Given the description of an element on the screen output the (x, y) to click on. 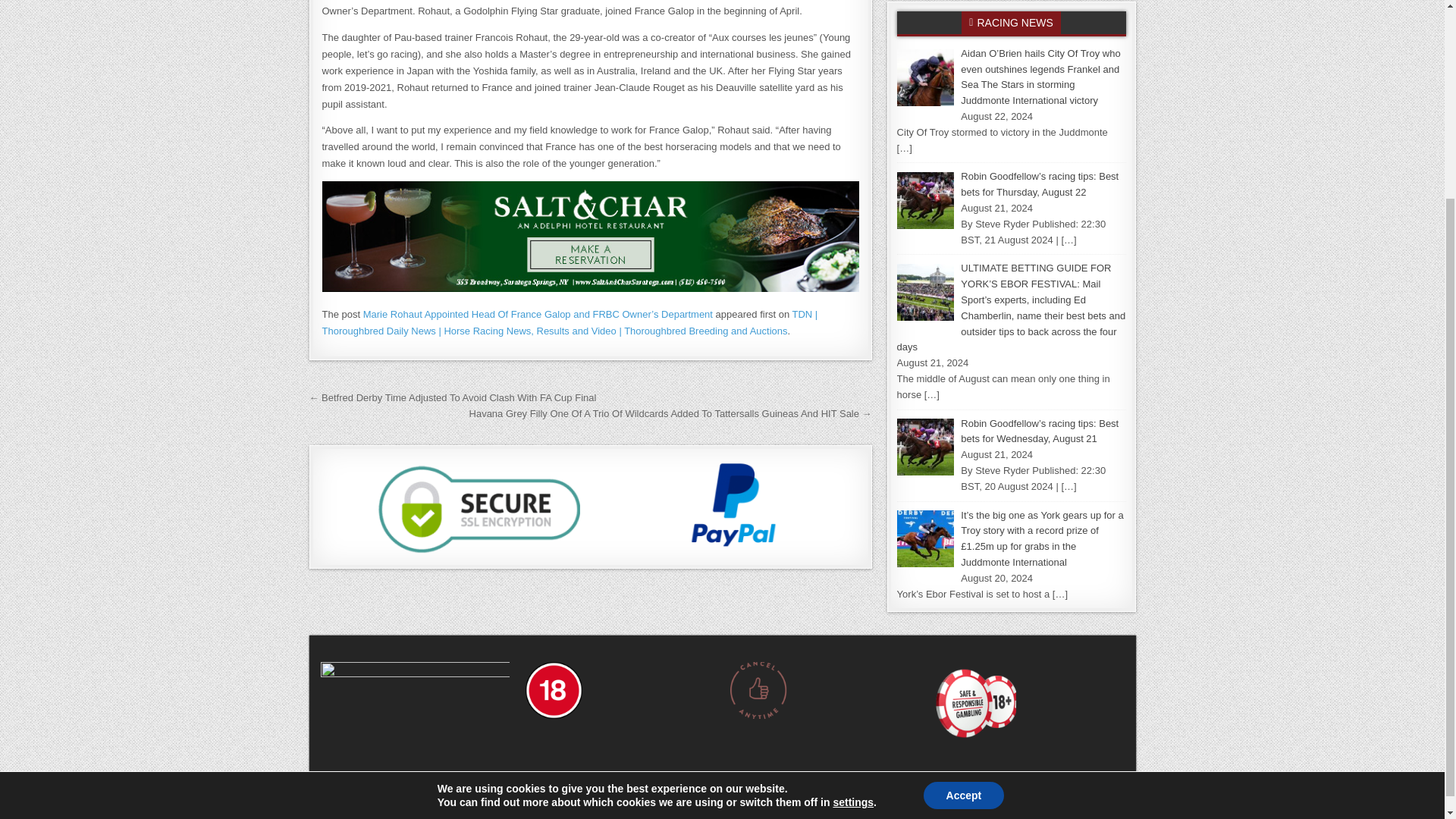
settings (852, 544)
Designed by Pablo Alf (722, 810)
Accept (963, 537)
